Given the description of an element on the screen output the (x, y) to click on. 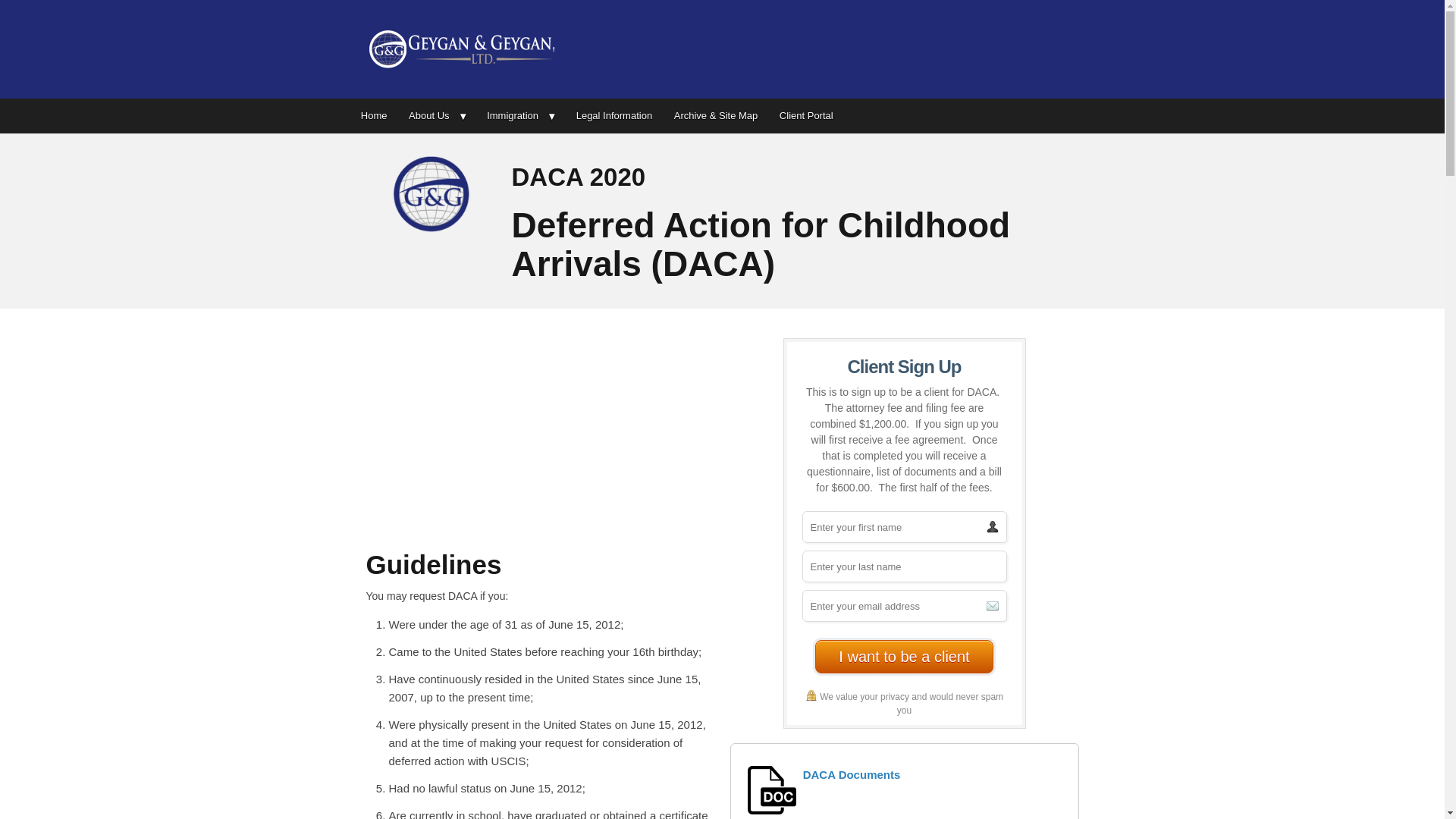
About Us (436, 115)
Home (373, 115)
Immigration (521, 115)
